Given the description of an element on the screen output the (x, y) to click on. 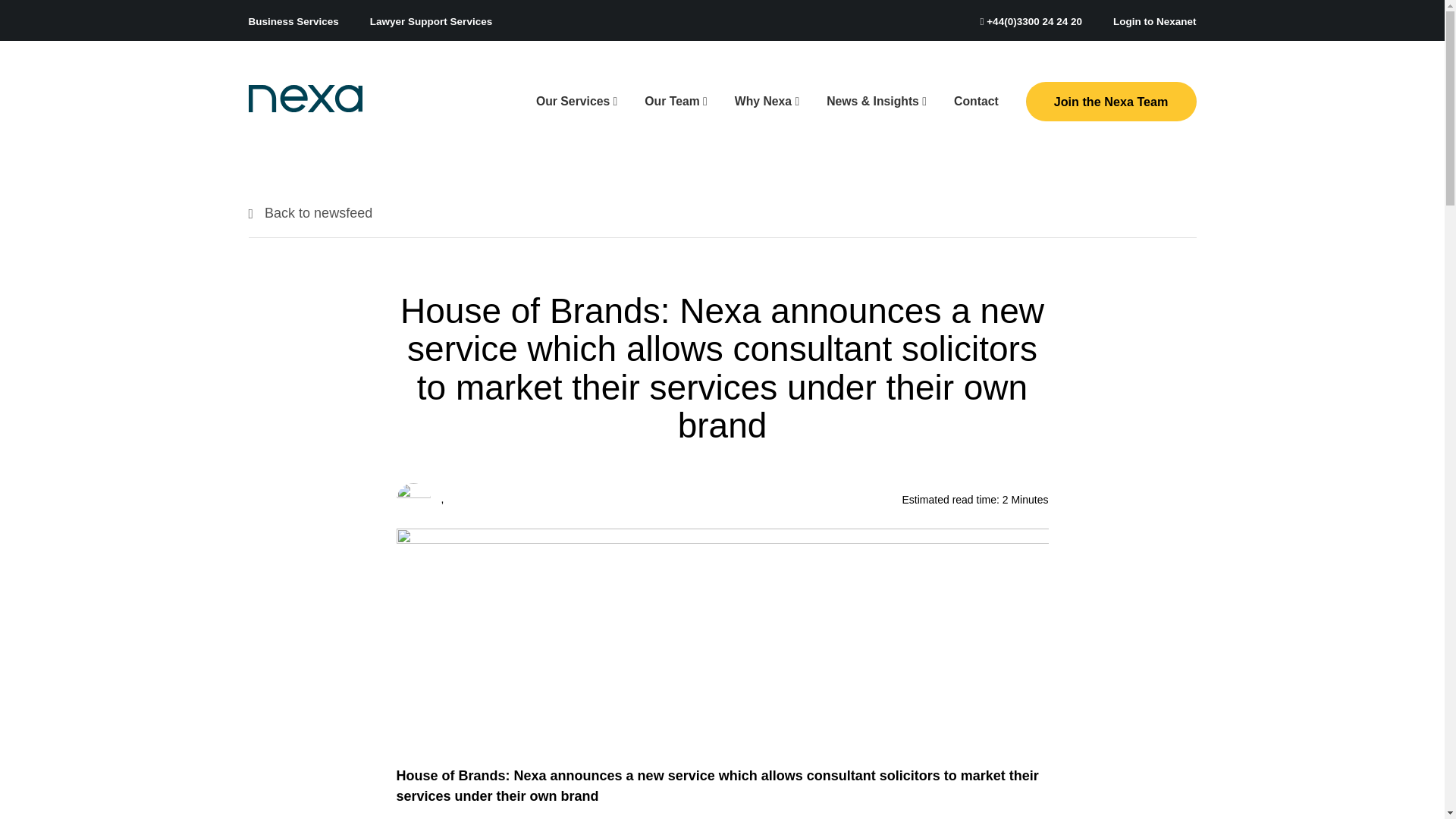
Why Nexa (766, 101)
Join the Nexa Team (1111, 101)
Back to newsfeed (310, 213)
Login to Nexanet (1154, 21)
Business Services (293, 21)
Lawyer Support Services (430, 21)
Our Team (675, 101)
Our Services (576, 101)
Contact (975, 101)
